Given the description of an element on the screen output the (x, y) to click on. 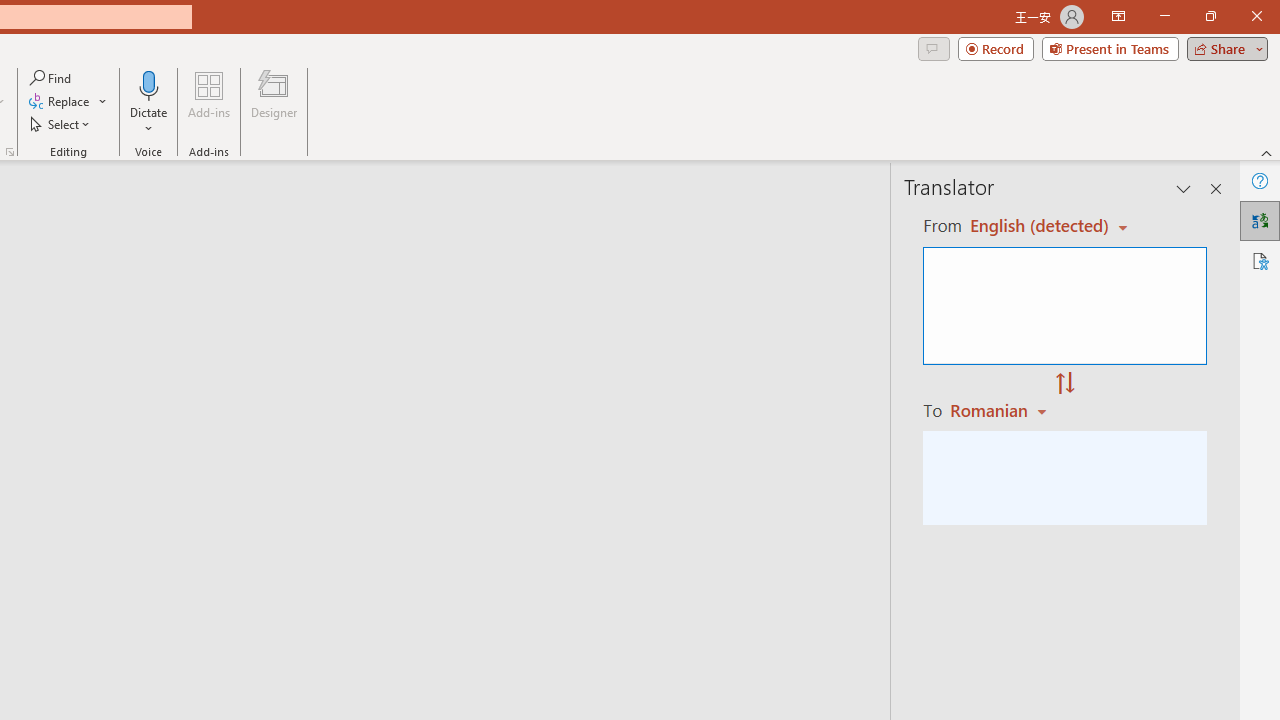
Romanian (1001, 409)
Czech (detected) (1039, 225)
